Given the description of an element on the screen output the (x, y) to click on. 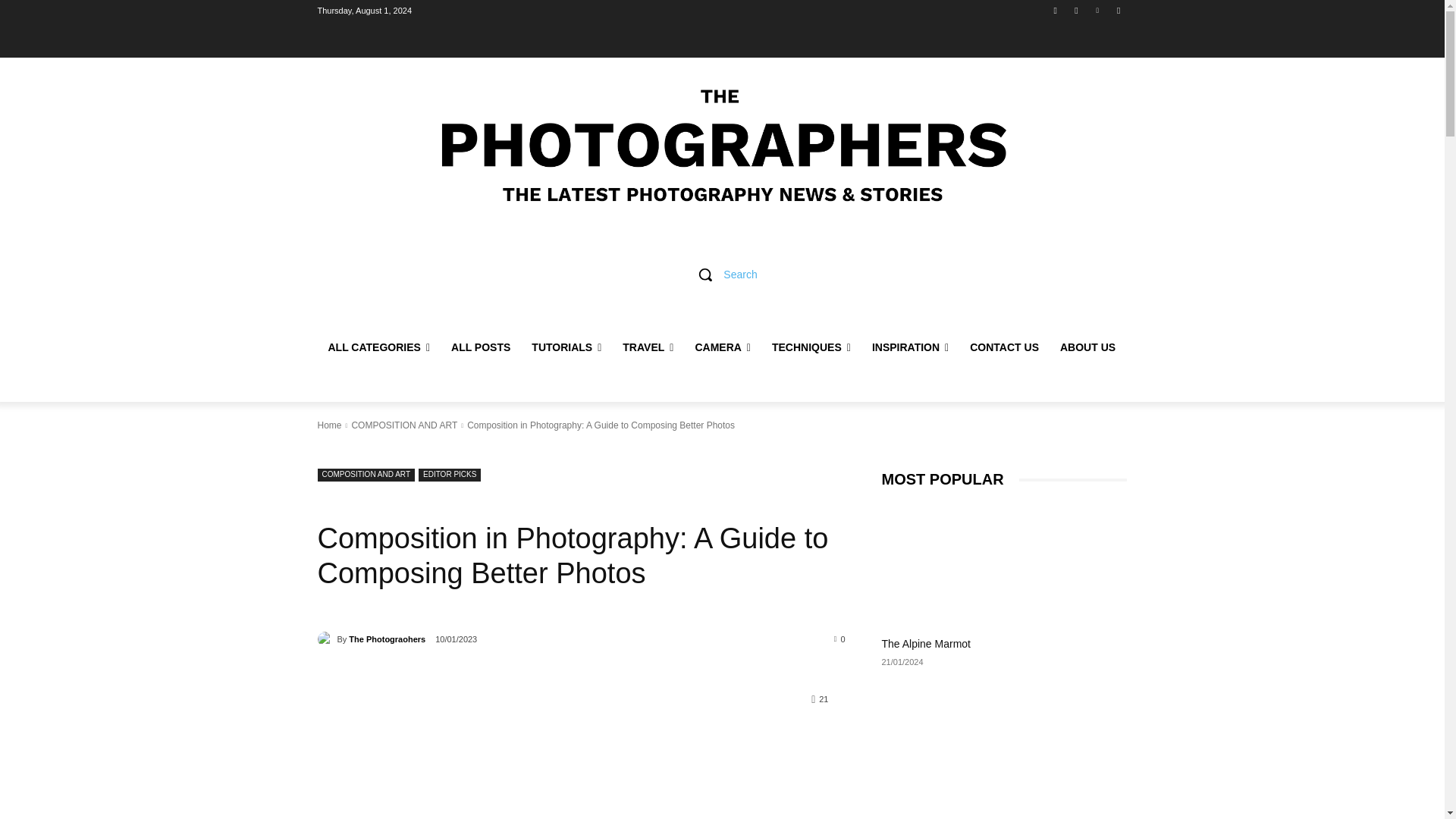
ALL CATEGORIES (379, 347)
Facebook (1055, 9)
Pinterest (1097, 9)
Search (722, 274)
Photography Website (721, 145)
Instagram (1075, 9)
Youtube (1117, 9)
